Given the description of an element on the screen output the (x, y) to click on. 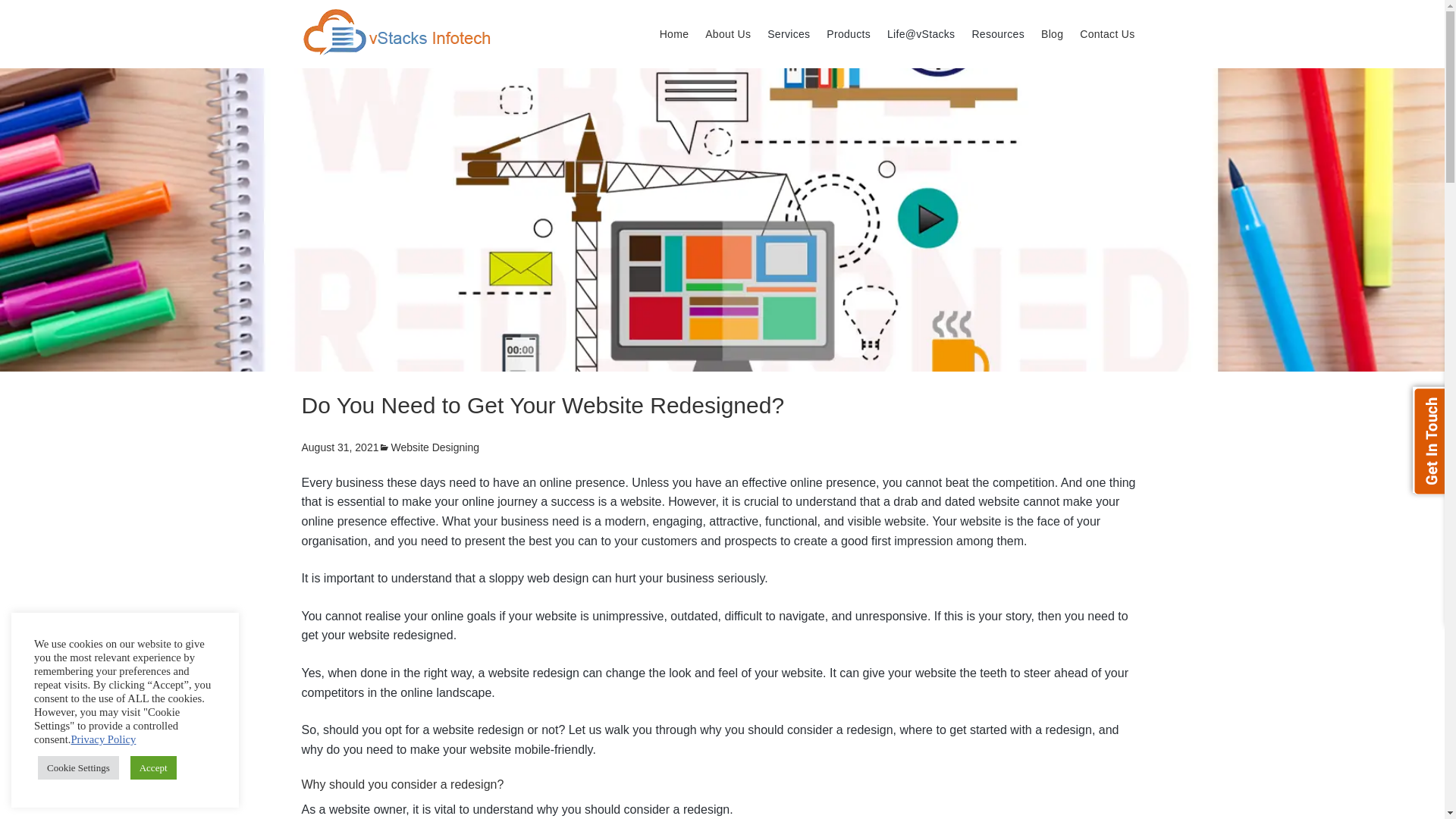
About Us (727, 33)
About Us (727, 33)
Products (848, 33)
vStacks Infotech Pvt. Ltd. (398, 32)
